Given the description of an element on the screen output the (x, y) to click on. 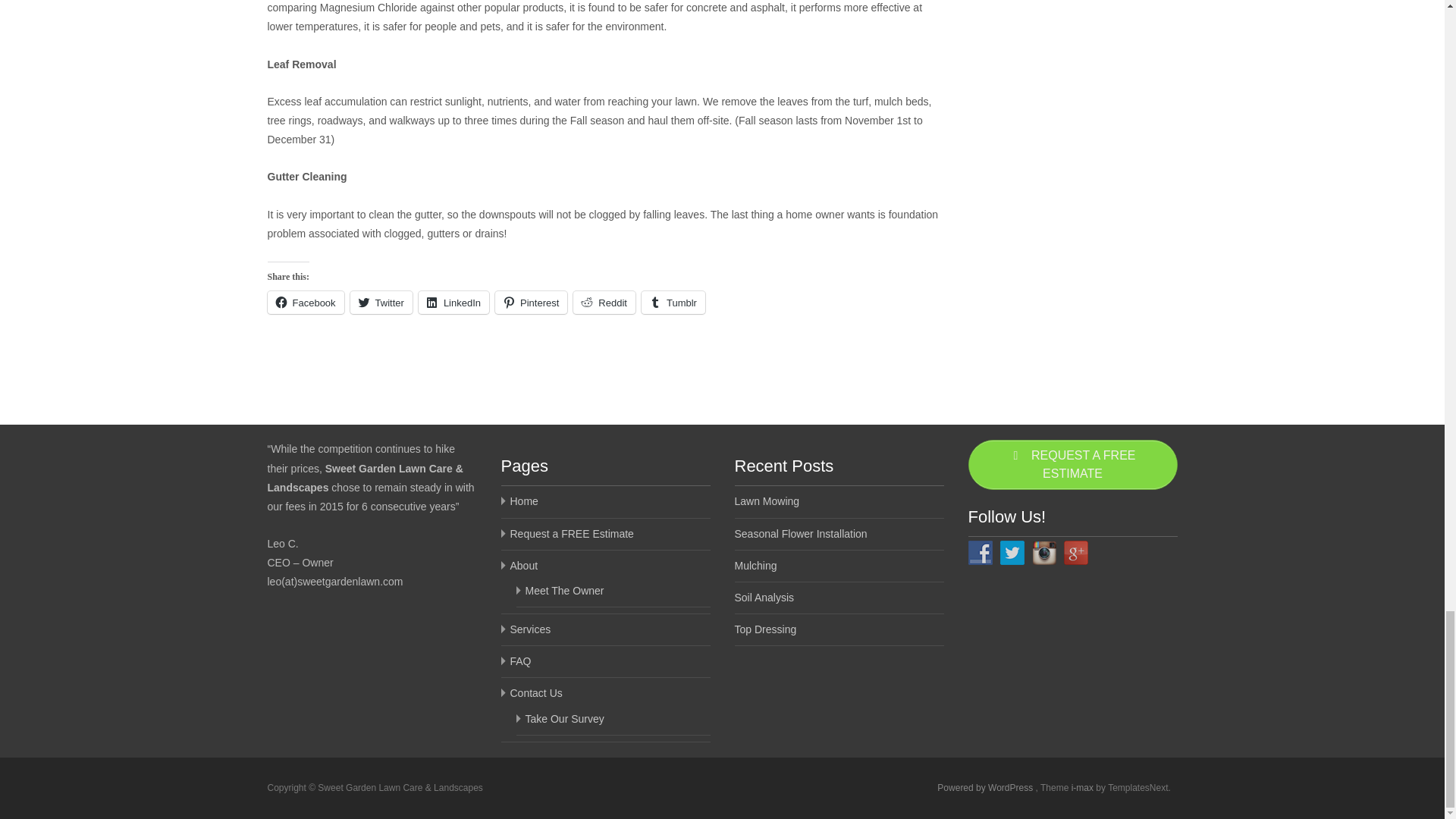
Pinterest (531, 302)
Twitter (381, 302)
LinkedIn (454, 302)
Tumblr (673, 302)
Facebook (304, 302)
Reddit (603, 302)
